Given the description of an element on the screen output the (x, y) to click on. 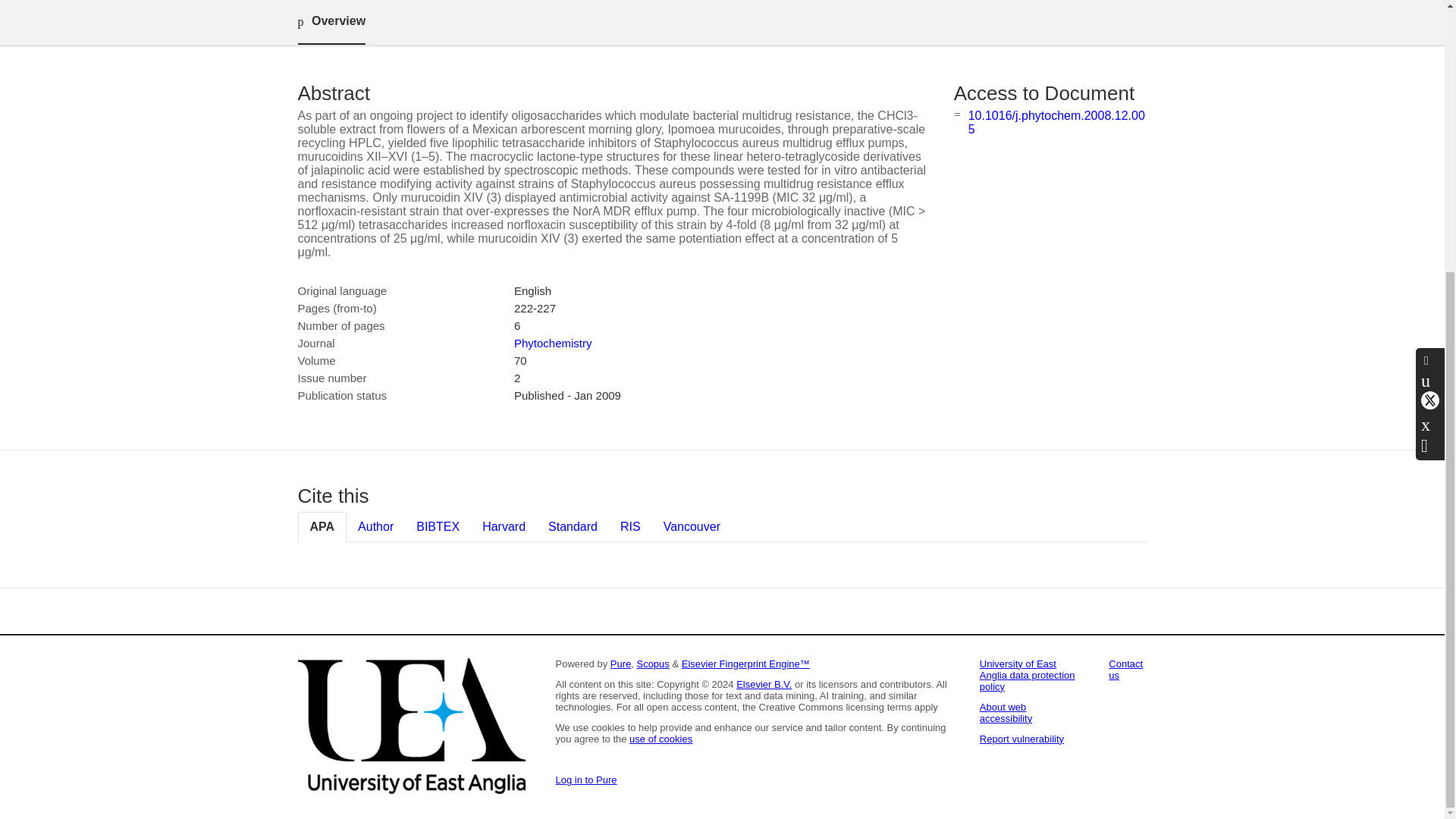
Pure (620, 663)
Scopus (652, 663)
Overview (331, 22)
Phytochemistry (552, 342)
